Given the description of an element on the screen output the (x, y) to click on. 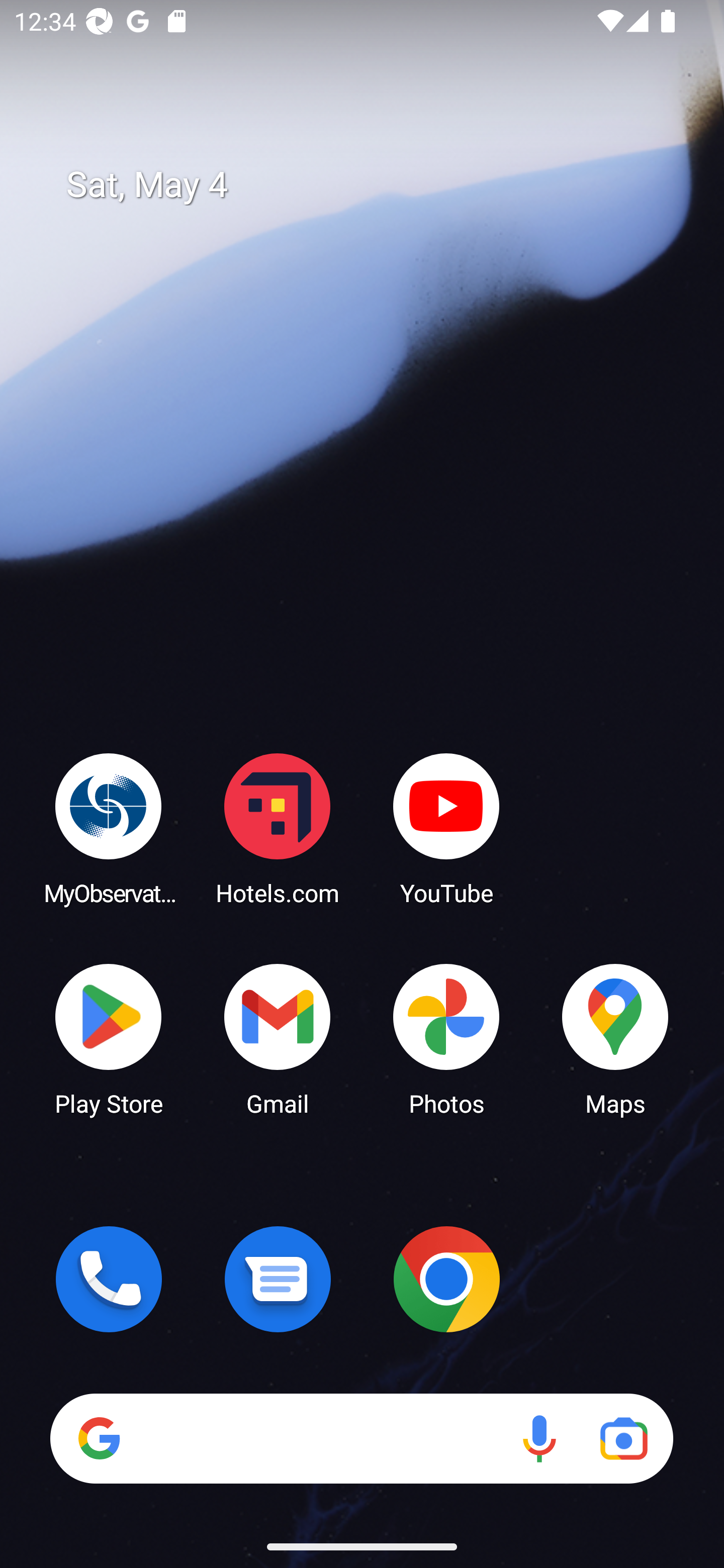
Sat, May 4 (375, 184)
MyObservatory (108, 828)
Hotels.com (277, 828)
YouTube (445, 828)
Play Store (108, 1038)
Gmail (277, 1038)
Photos (445, 1038)
Maps (615, 1038)
Phone (108, 1279)
Messages (277, 1279)
Chrome (446, 1279)
Search Voice search Google Lens (361, 1438)
Voice search (539, 1438)
Google Lens (623, 1438)
